Given the description of an element on the screen output the (x, y) to click on. 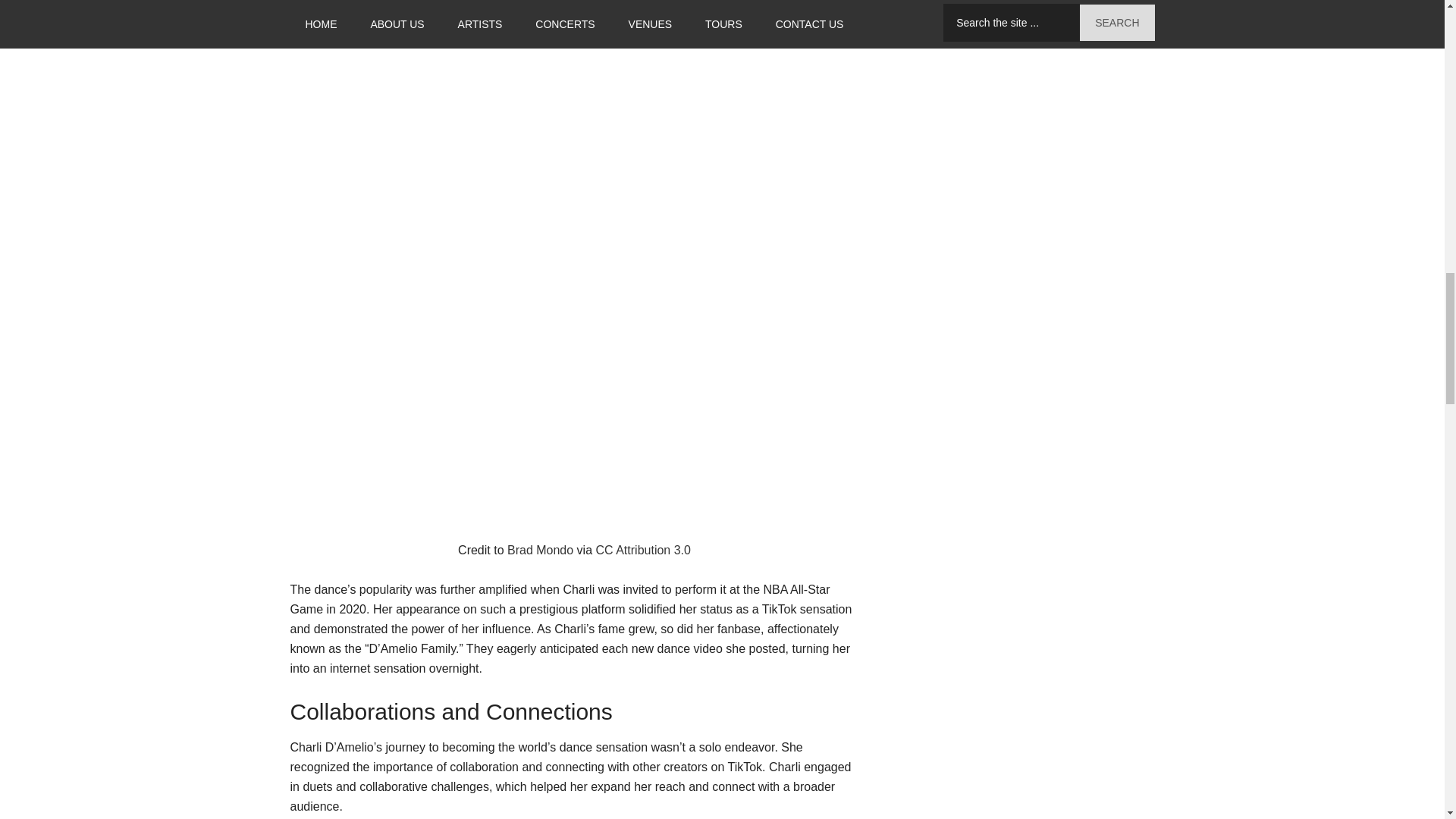
Brad Mondo (539, 549)
CC Attribution 3.0 (642, 549)
